Given the description of an element on the screen output the (x, y) to click on. 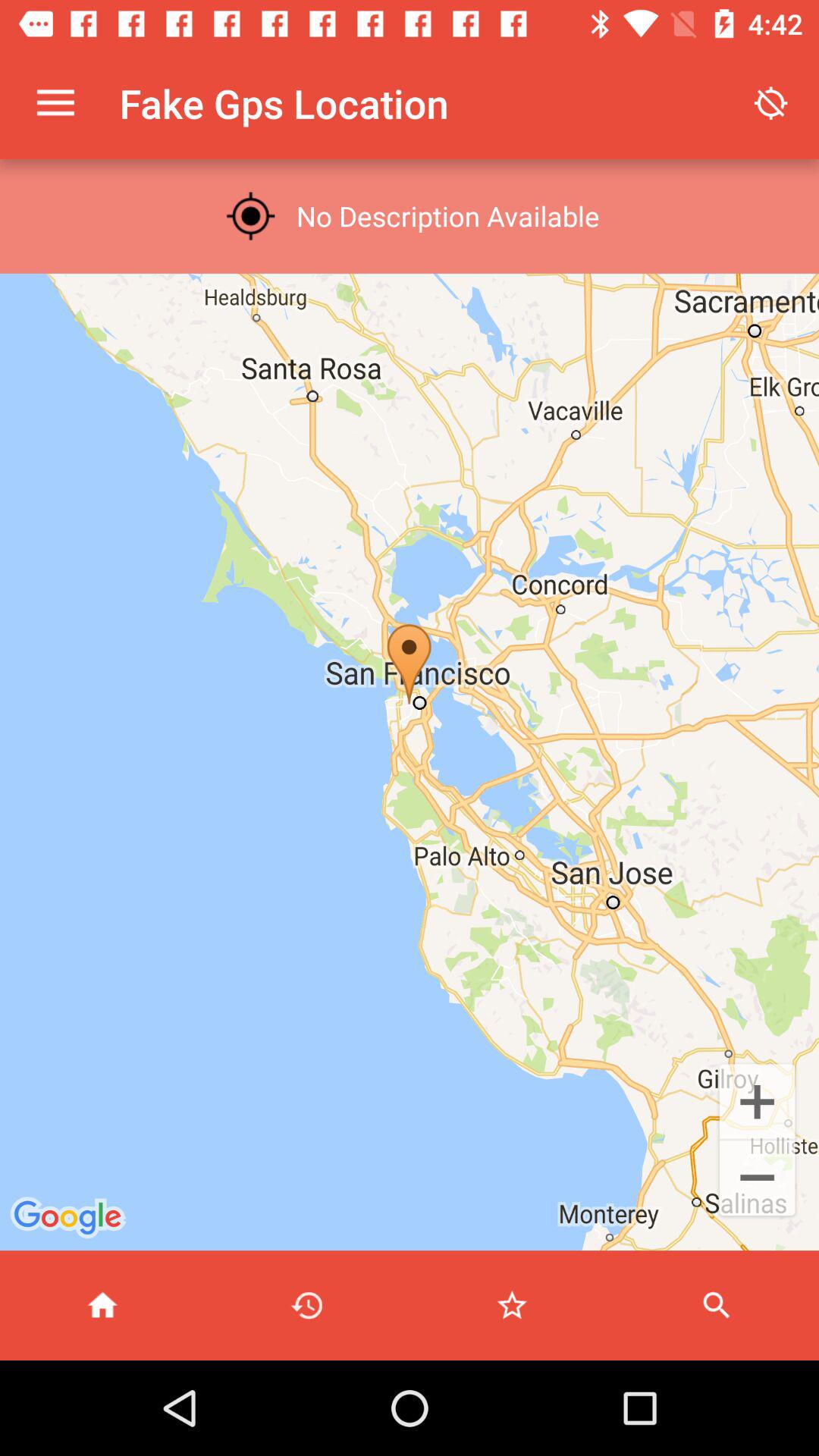
search (716, 1305)
